Given the description of an element on the screen output the (x, y) to click on. 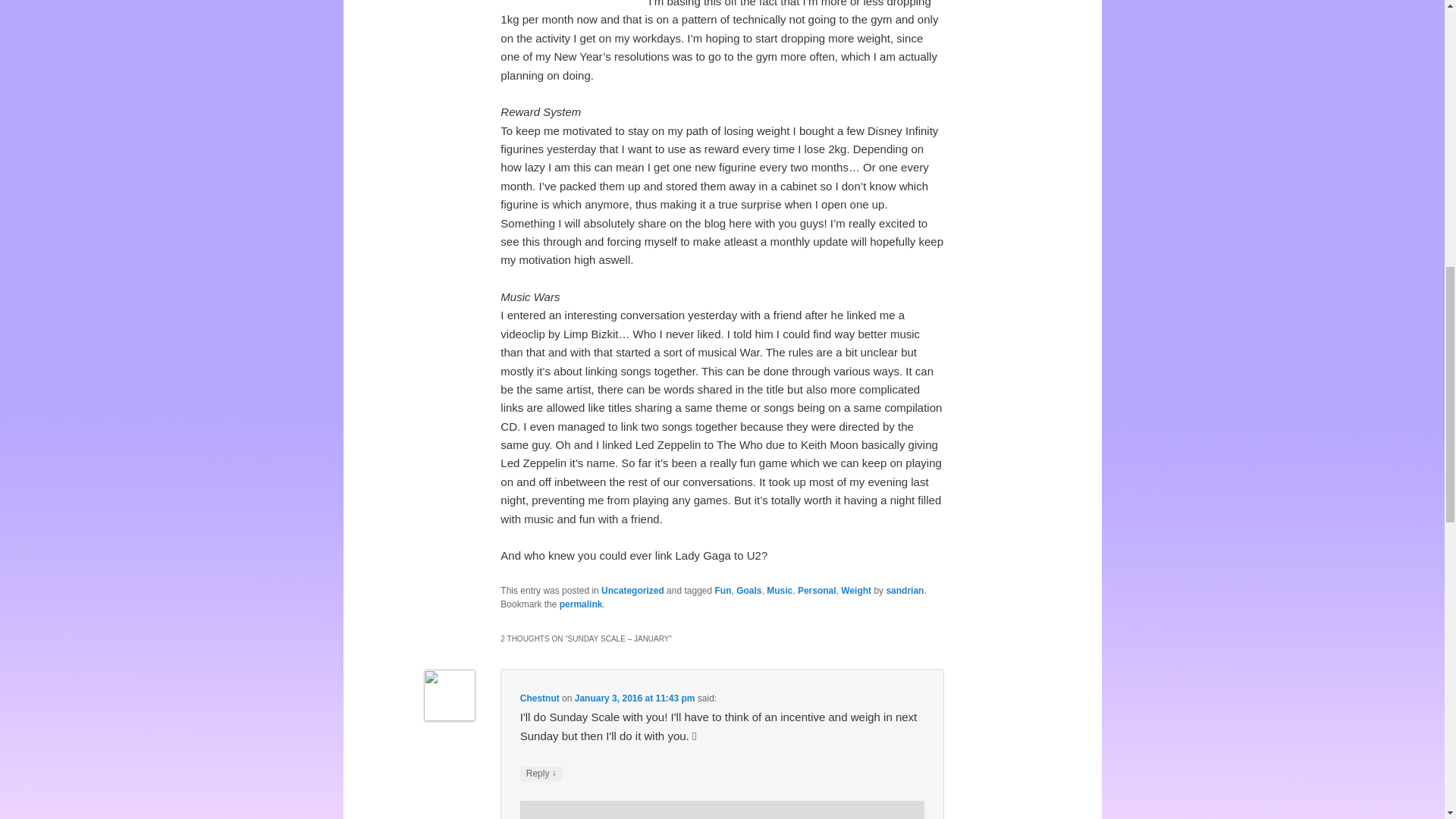
Goals (748, 590)
Weight (855, 590)
permalink (580, 603)
Personal (816, 590)
Chestnut (539, 697)
sandrian (904, 590)
January 3, 2016 at 11:43 pm (635, 697)
Music (779, 590)
Uncategorized (632, 590)
Fun (723, 590)
